Given the description of an element on the screen output the (x, y) to click on. 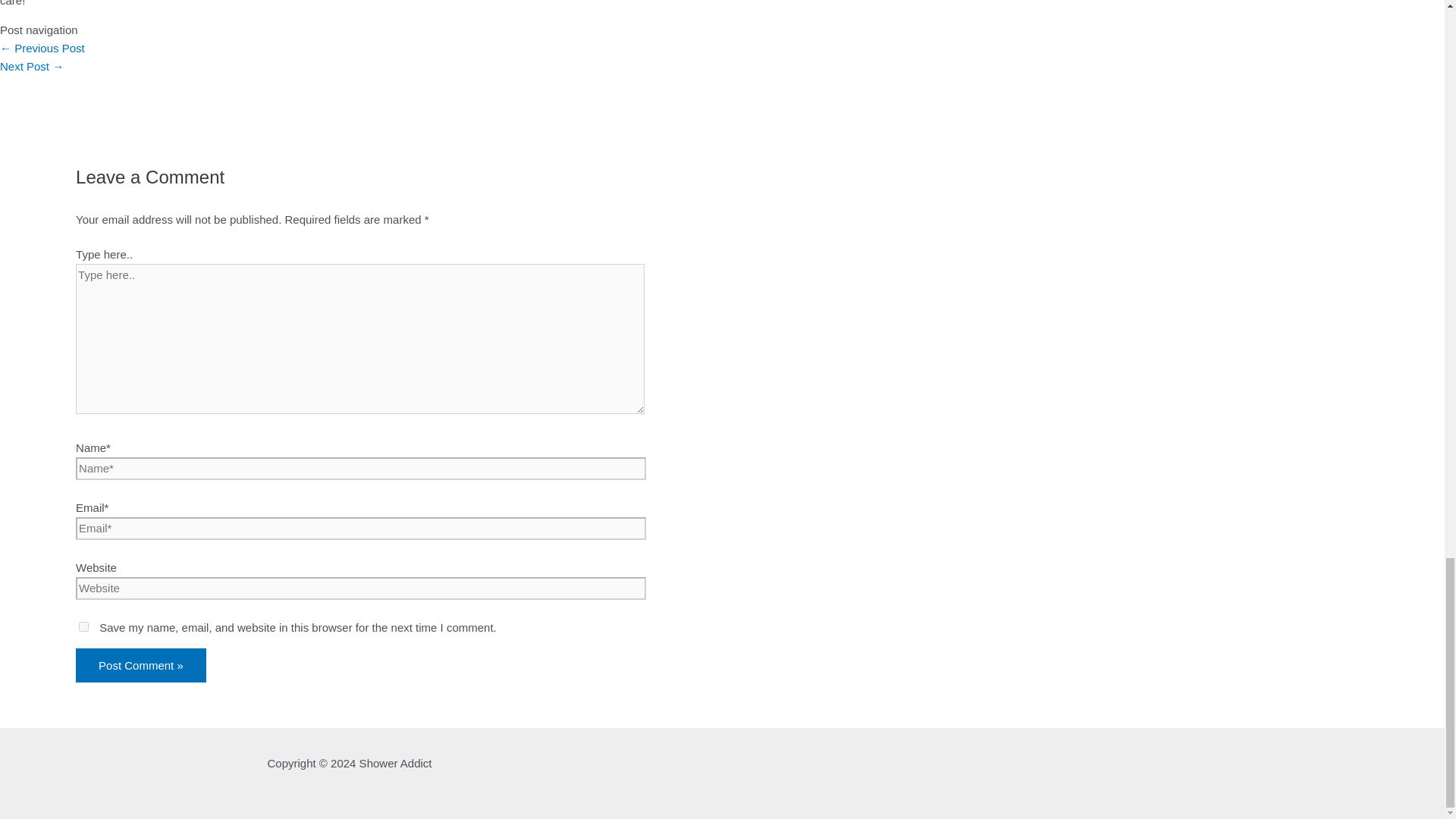
yes (83, 626)
